Given the description of an element on the screen output the (x, y) to click on. 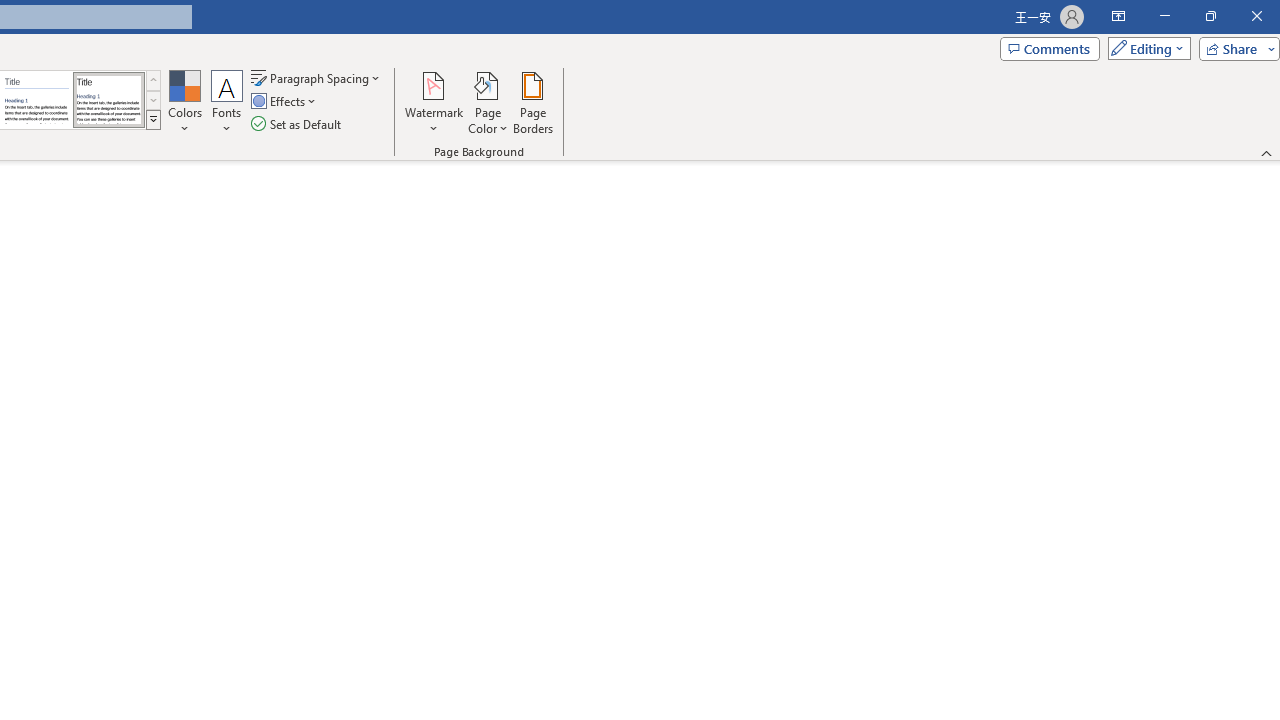
Page Borders... (532, 102)
Colors (184, 102)
Effects (285, 101)
Set as Default (298, 124)
